Given the description of an element on the screen output the (x, y) to click on. 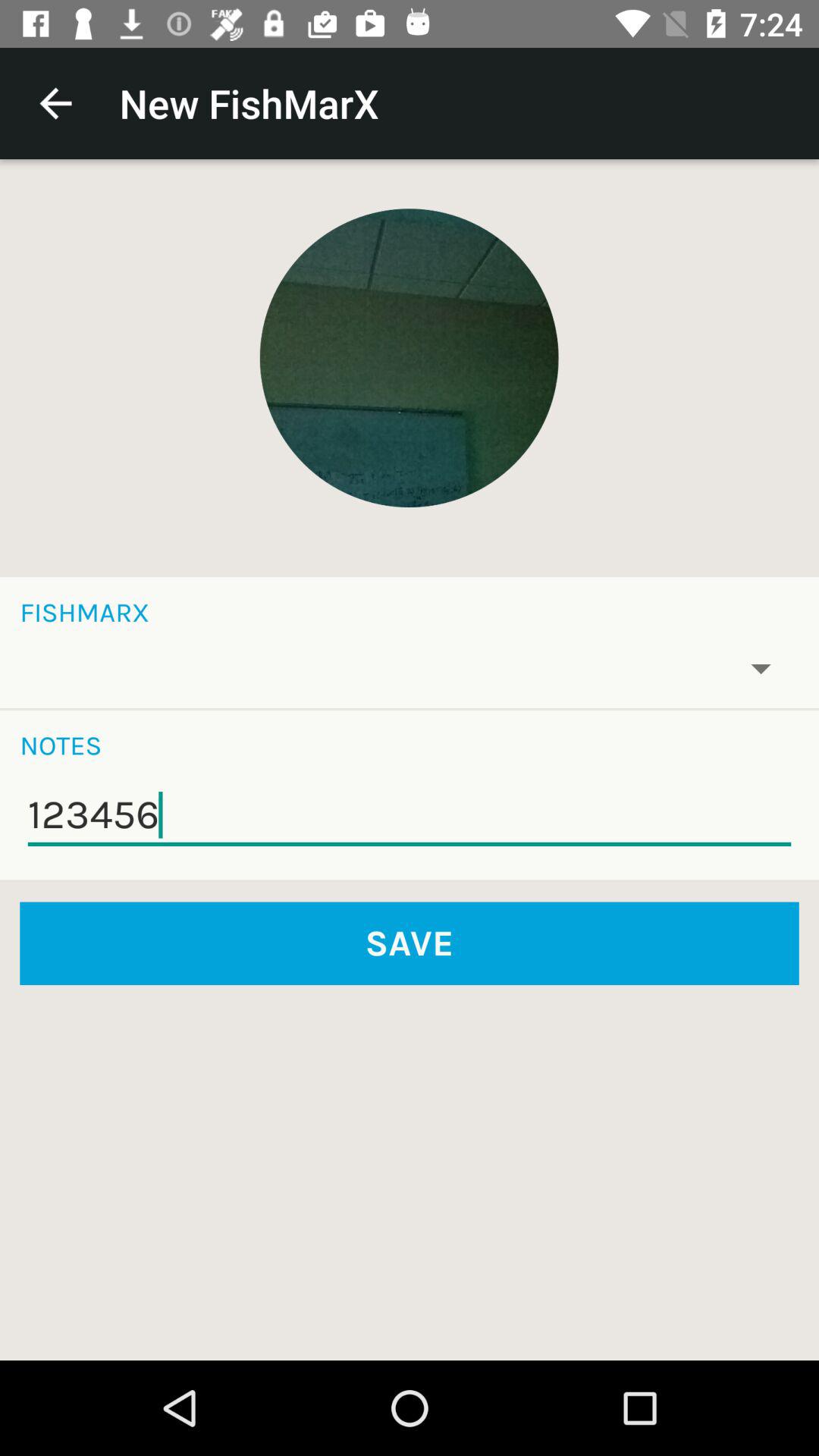
launch item next to the new fishmarx item (55, 103)
